Given the description of an element on the screen output the (x, y) to click on. 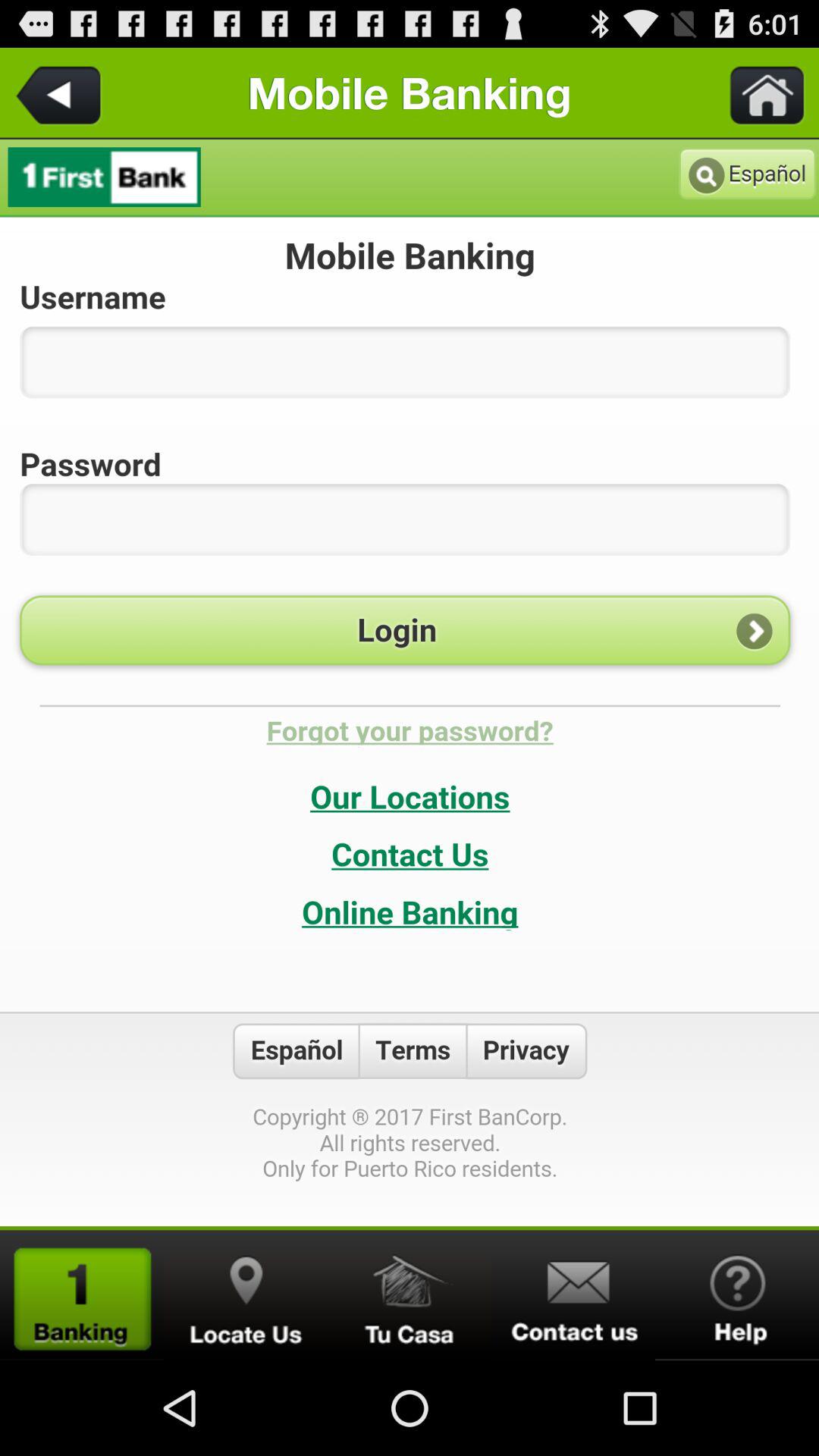
email (573, 1295)
